Given the description of an element on the screen output the (x, y) to click on. 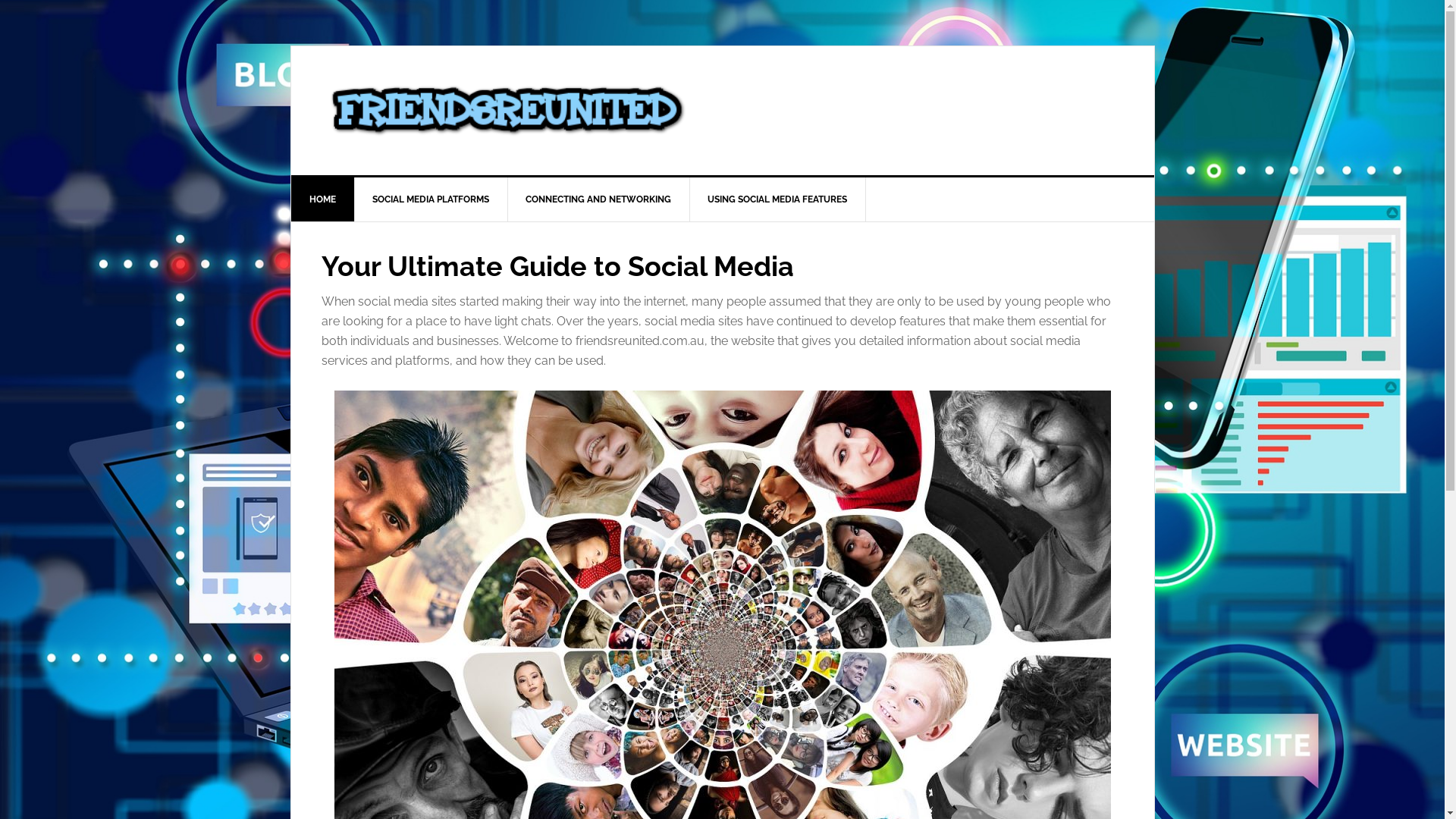
CONNECTING AND NETWORKING Element type: text (597, 199)
HOME Element type: text (322, 199)
FRIENDSREUNITED.COM.AU Element type: text (722, 110)
Skip to primary navigation Element type: text (0, 0)
SOCIAL MEDIA PLATFORMS Element type: text (430, 199)
USING SOCIAL MEDIA FEATURES Element type: text (776, 199)
